Given the description of an element on the screen output the (x, y) to click on. 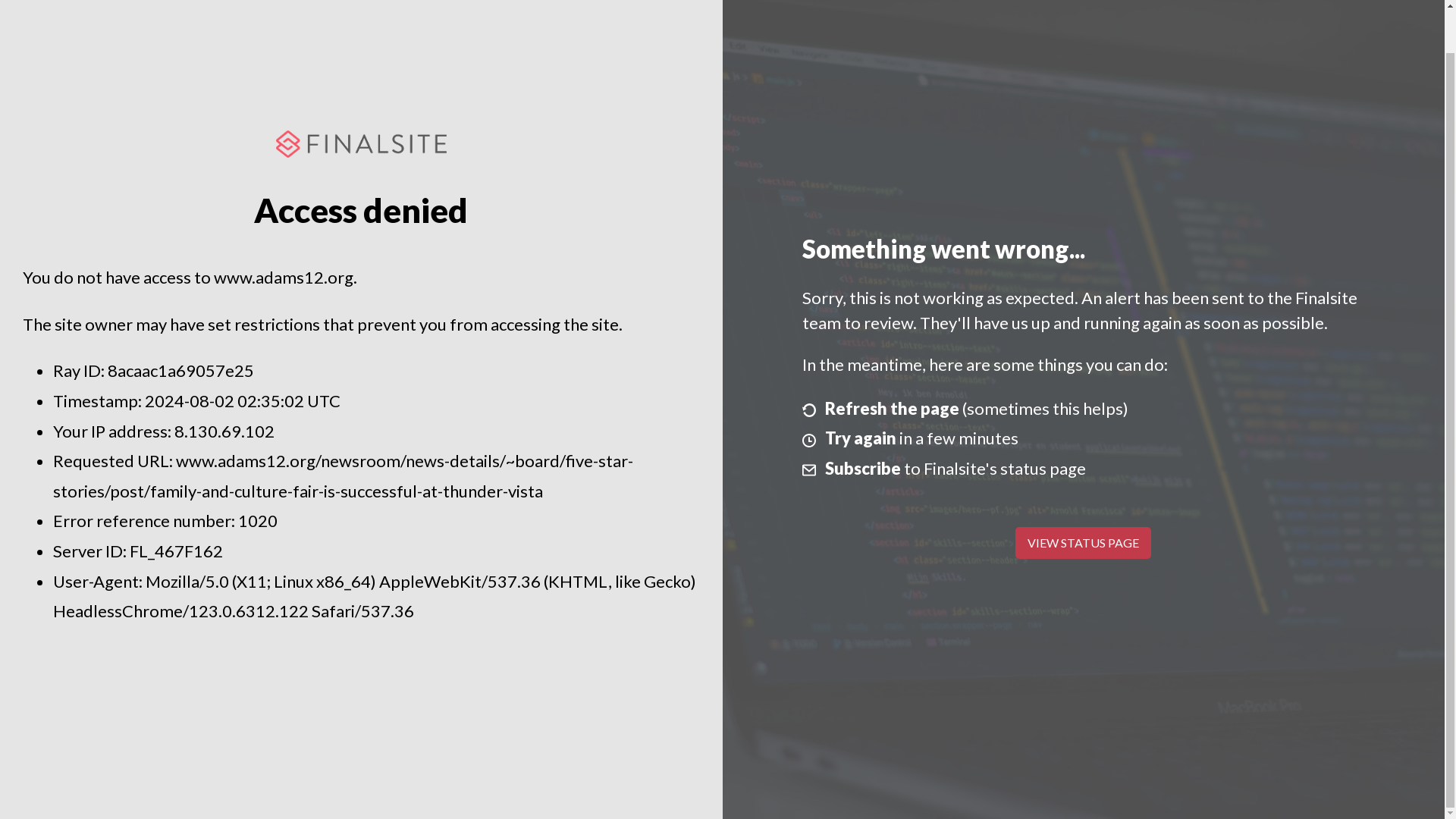
VIEW STATUS PAGE (1082, 542)
